Given the description of an element on the screen output the (x, y) to click on. 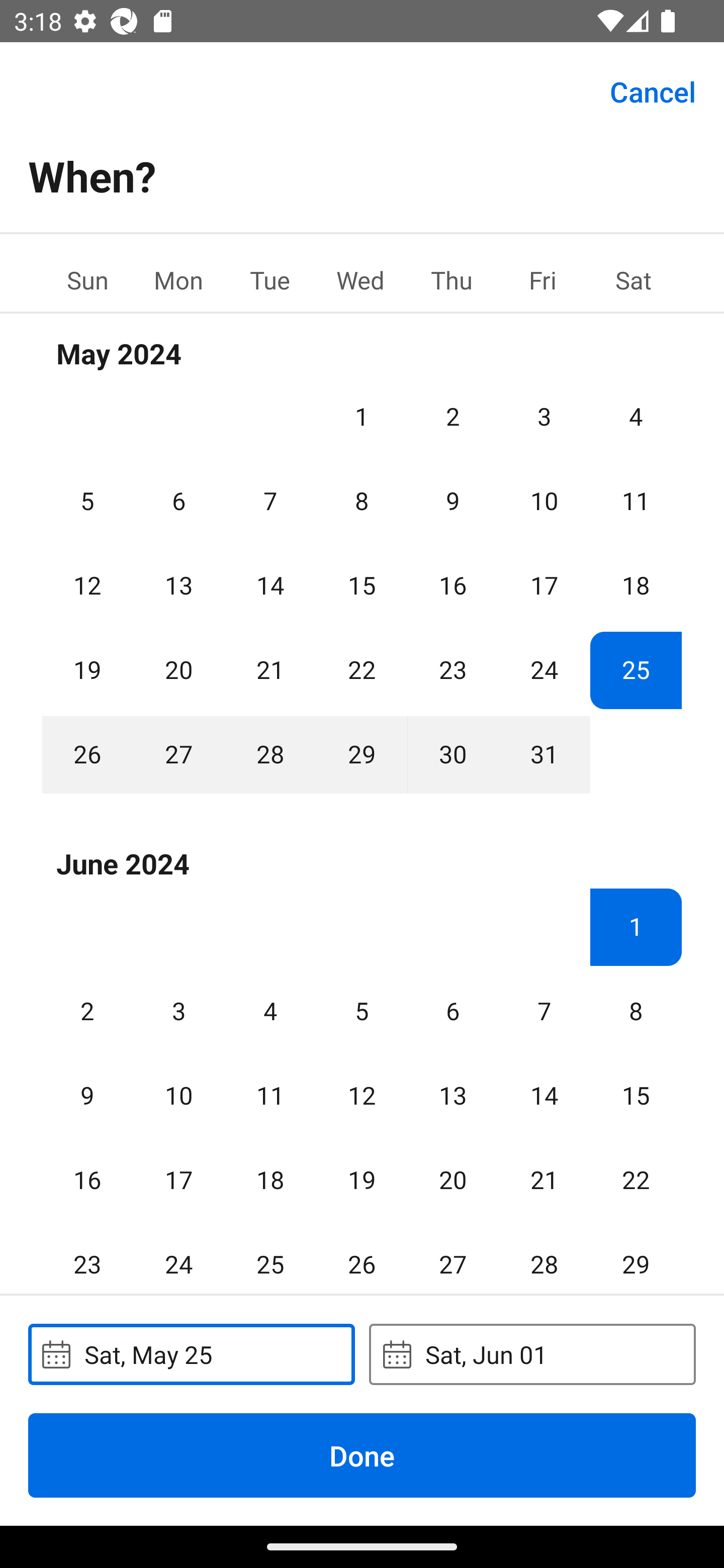
Cancel (652, 90)
Sat, May 25 (191, 1353)
Sat, Jun 01 (532, 1353)
Done (361, 1454)
